Given the description of an element on the screen output the (x, y) to click on. 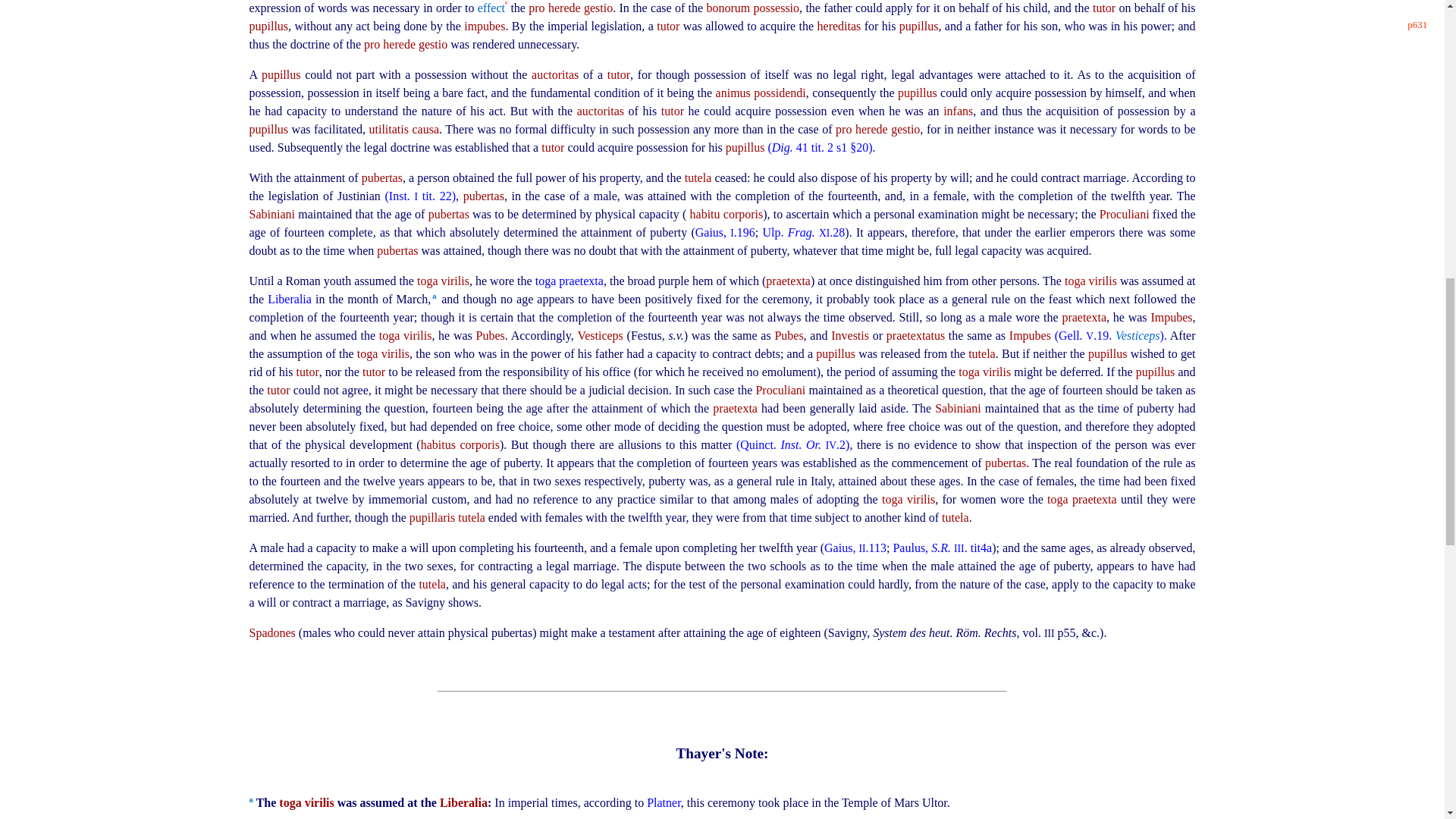
Ulp. Frag. XI.28 (803, 232)
Paulus, S.R. III. tit4a (941, 547)
toga praetexta (569, 280)
Gaius, II.113 (855, 547)
Gaius, I.196 (725, 232)
a (434, 296)
Liberalia (291, 298)
Platner (663, 802)
